Given the description of an element on the screen output the (x, y) to click on. 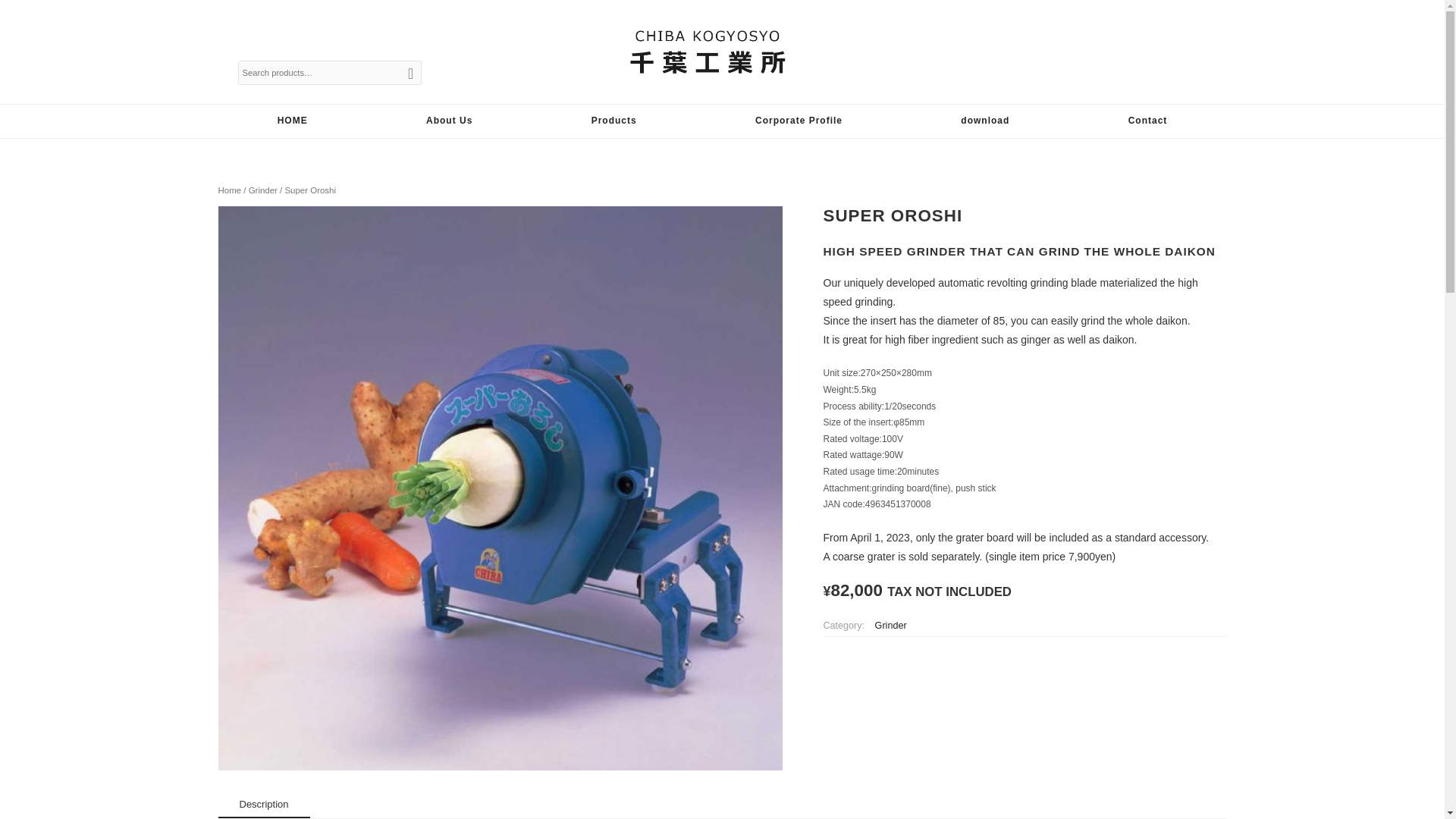
Search (410, 71)
About Us (449, 119)
Products (613, 119)
HOME (292, 119)
CHIBA KOGYOSHO (707, 87)
